Given the description of an element on the screen output the (x, y) to click on. 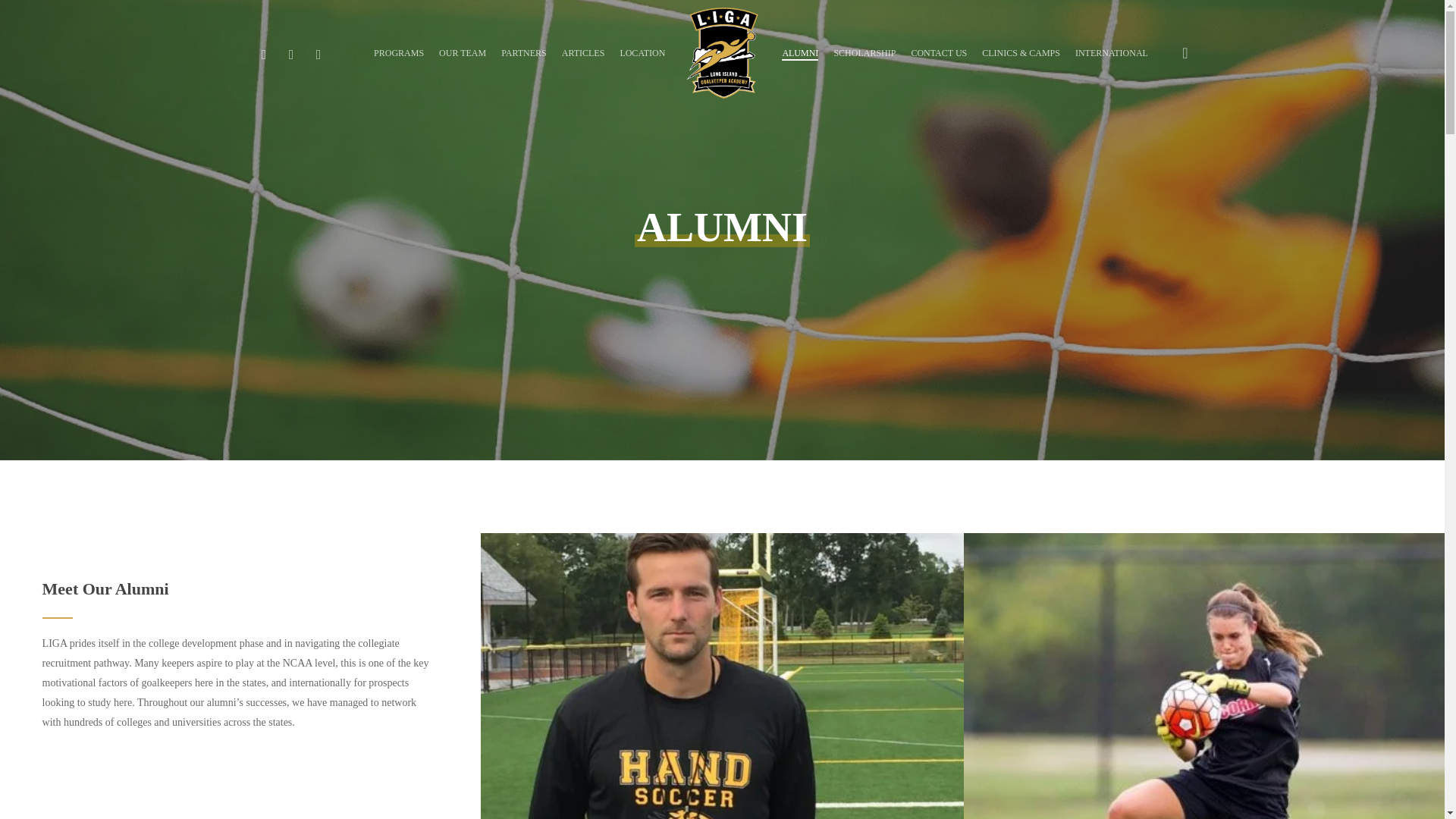
email (317, 52)
facebook (264, 52)
INTERNATIONAL (1111, 52)
ARTICLES (583, 52)
OUR TEAM (462, 52)
CONTACT US (938, 52)
PROGRAMS (398, 52)
PARTNERS (523, 52)
search (1184, 53)
ALUMNI (799, 52)
SCHOLARSHIP (863, 52)
LOCATION (642, 52)
instagram (291, 52)
